Given the description of an element on the screen output the (x, y) to click on. 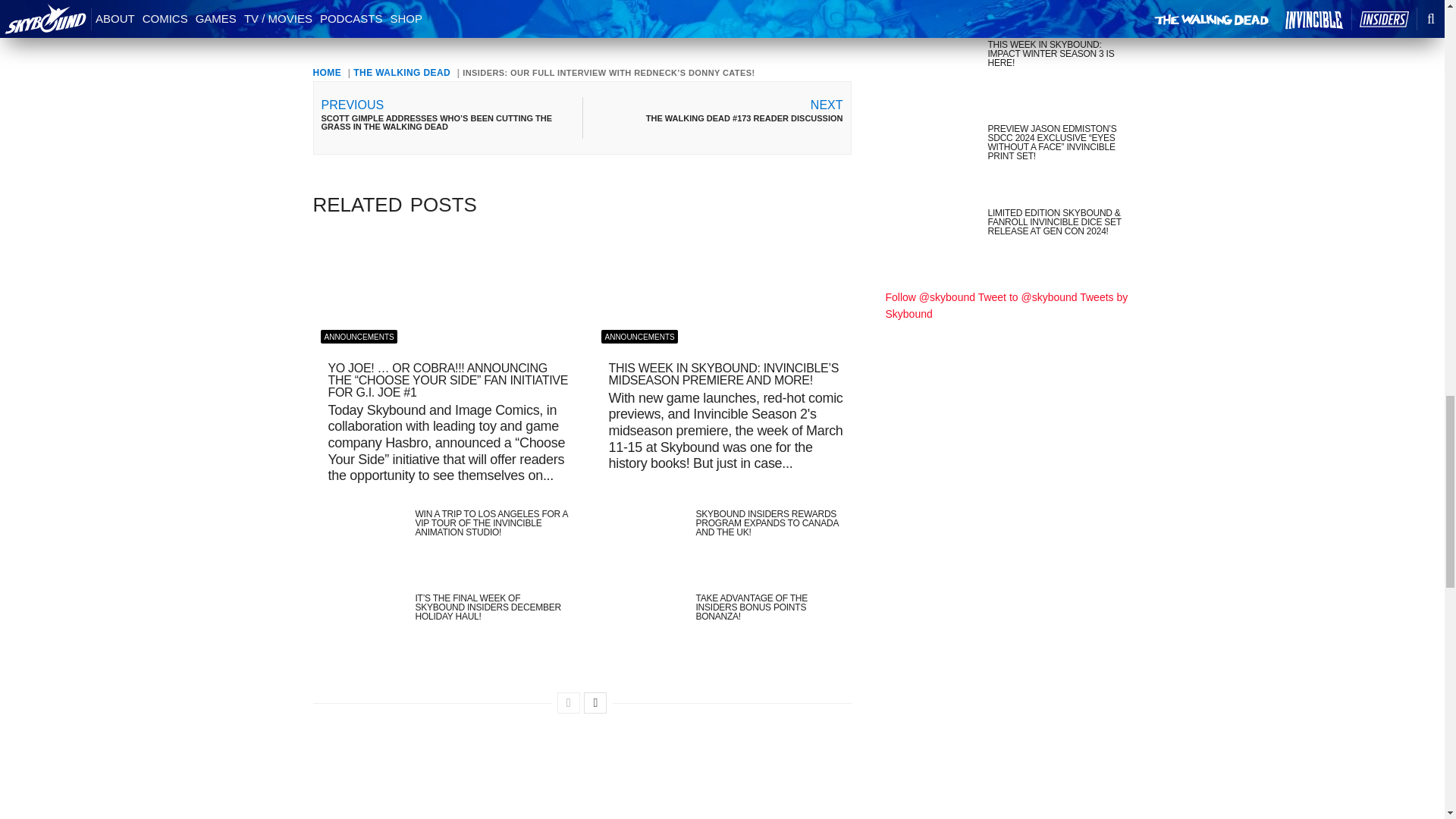
Previous (568, 702)
Next (595, 702)
